Given the description of an element on the screen output the (x, y) to click on. 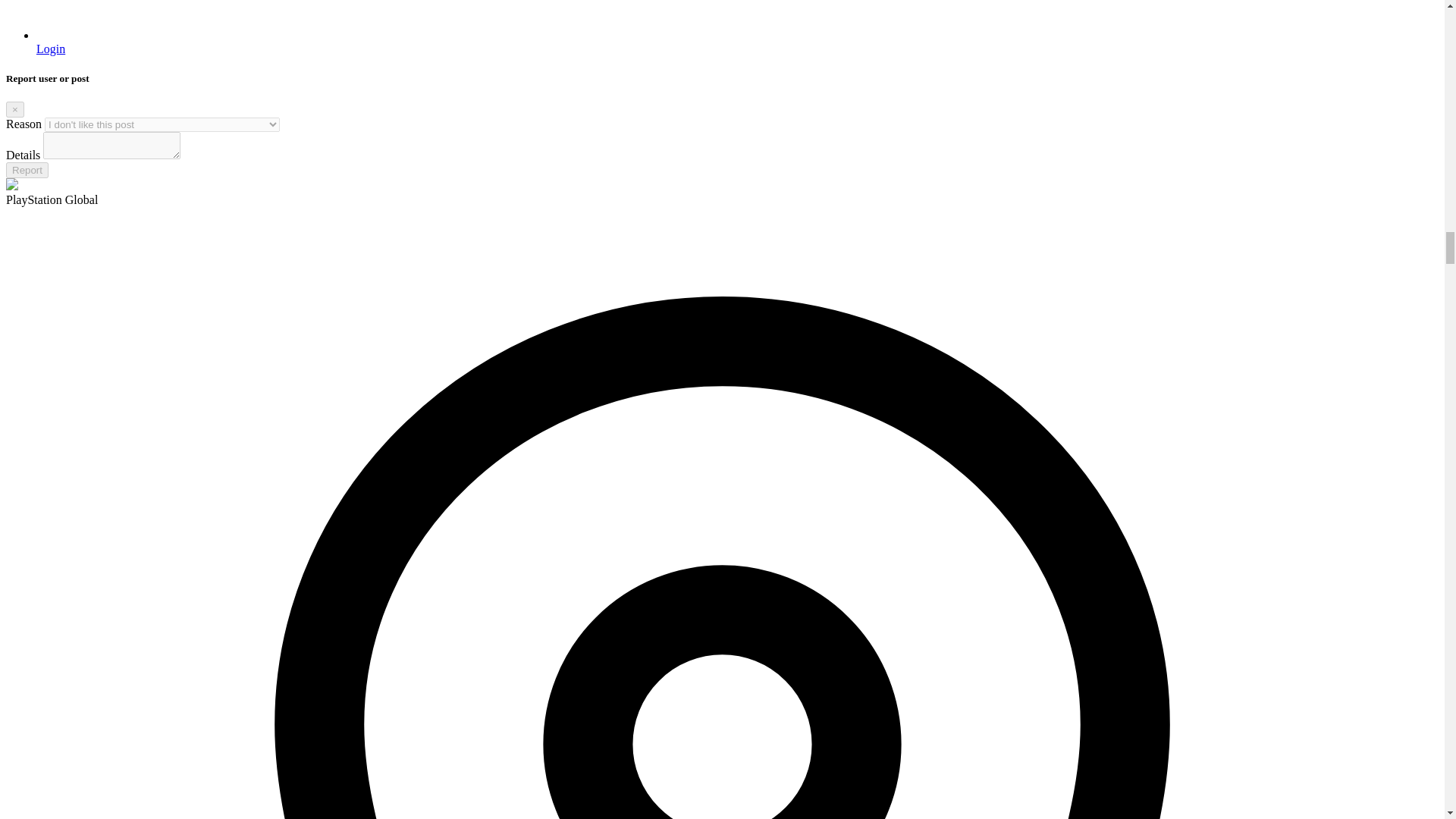
Report (26, 170)
